Given the description of an element on the screen output the (x, y) to click on. 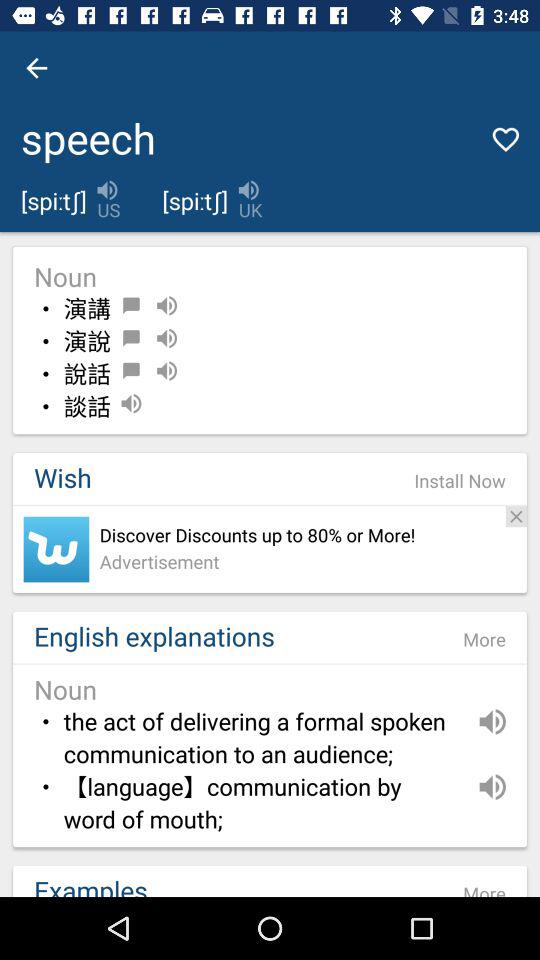
tap language communication by (260, 803)
